Given the description of an element on the screen output the (x, y) to click on. 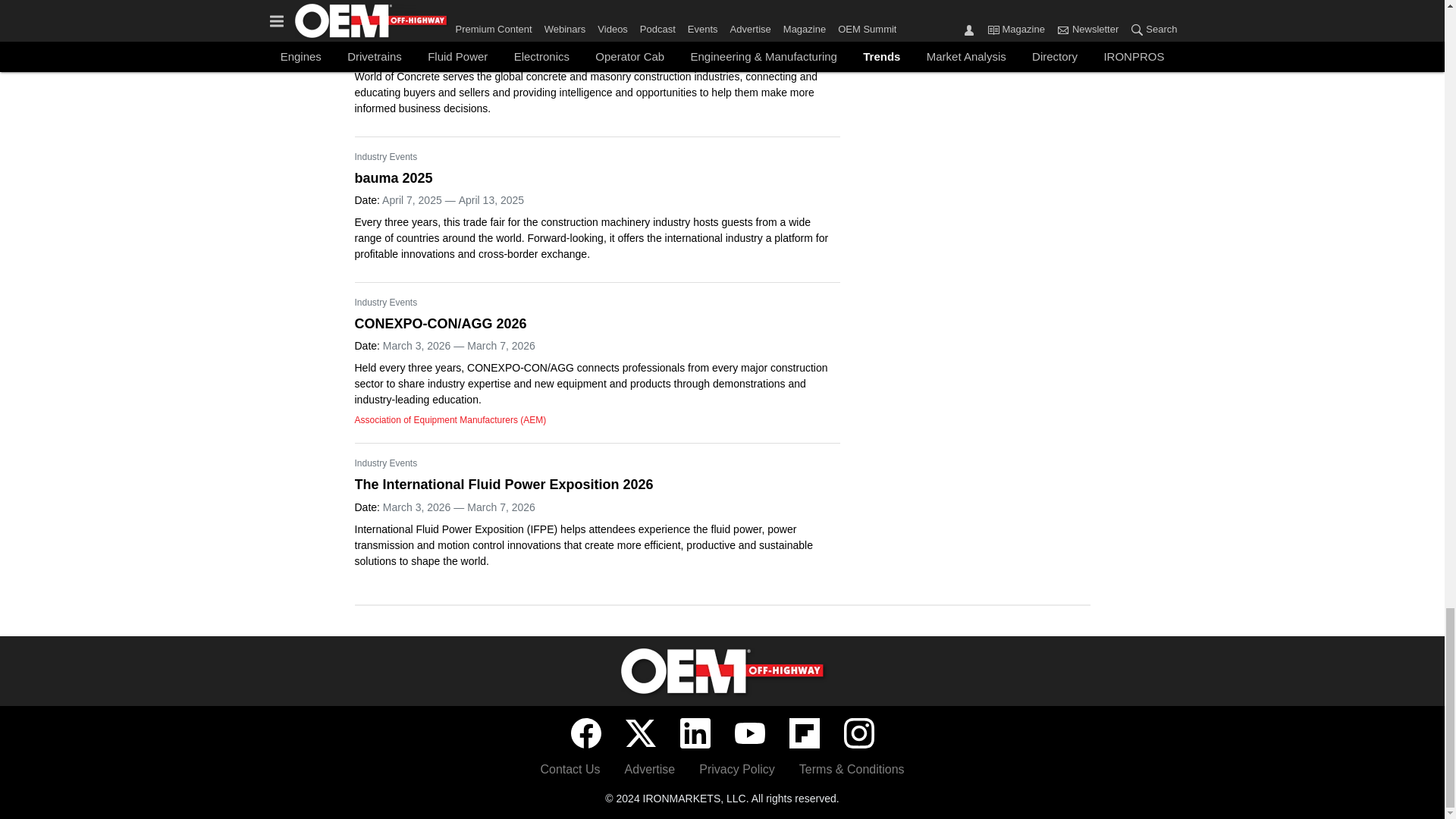
Facebook icon (584, 733)
YouTube icon (748, 733)
LinkedIn icon (694, 733)
Flipboard icon (803, 733)
Twitter X icon (639, 733)
